Given the description of an element on the screen output the (x, y) to click on. 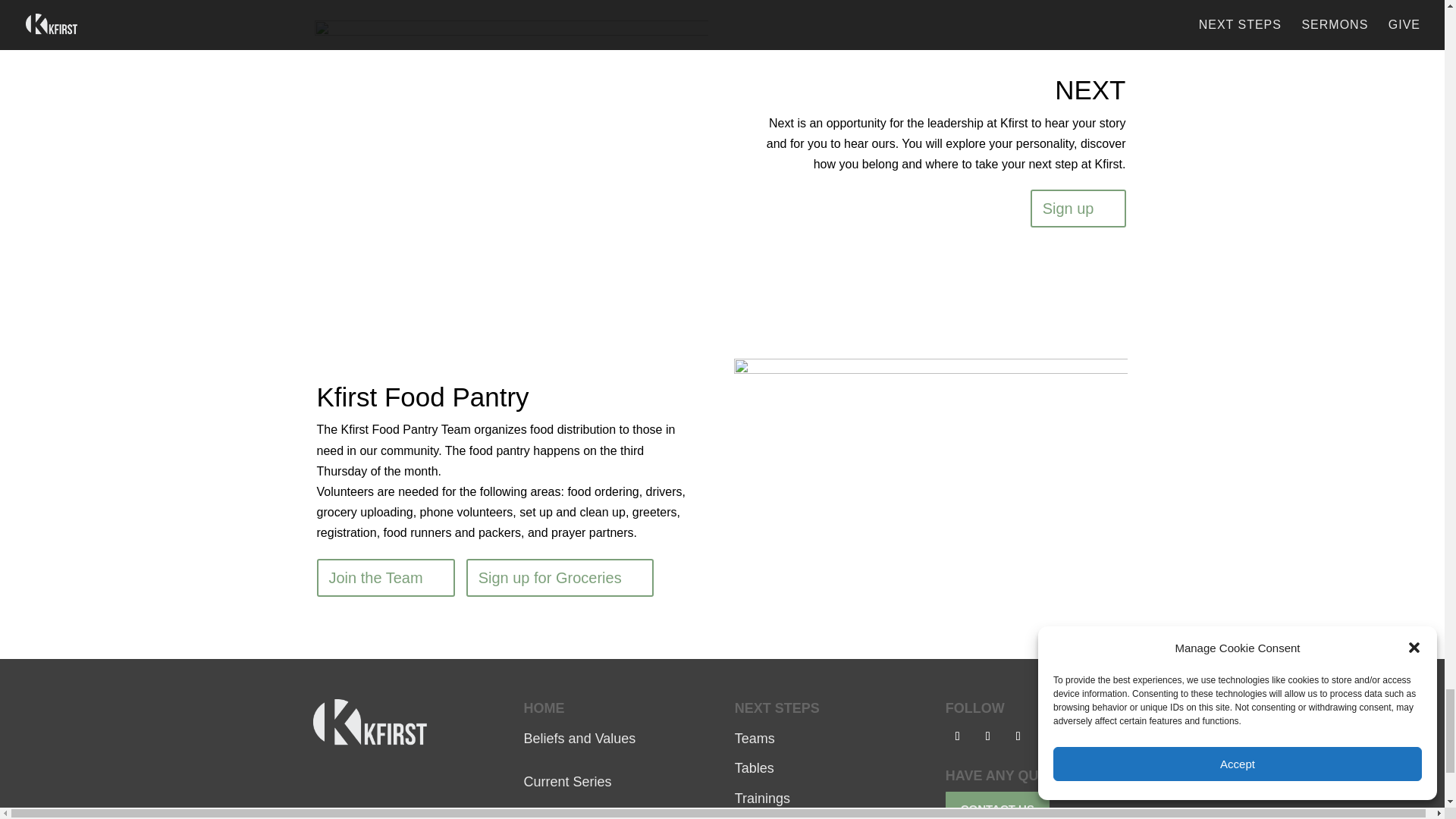
Join the Team (385, 577)
Beliefs and Values (580, 738)
Sign up for Groceries (559, 577)
Current Series (567, 781)
Sign up (1077, 208)
Our Staff (551, 818)
Teams (754, 738)
Follow on Instagram (987, 735)
Our Staff (551, 818)
Follow on Facebook (956, 735)
Tables (754, 767)
Follow on Youtube (1018, 735)
Current Series (567, 781)
